Given the description of an element on the screen output the (x, y) to click on. 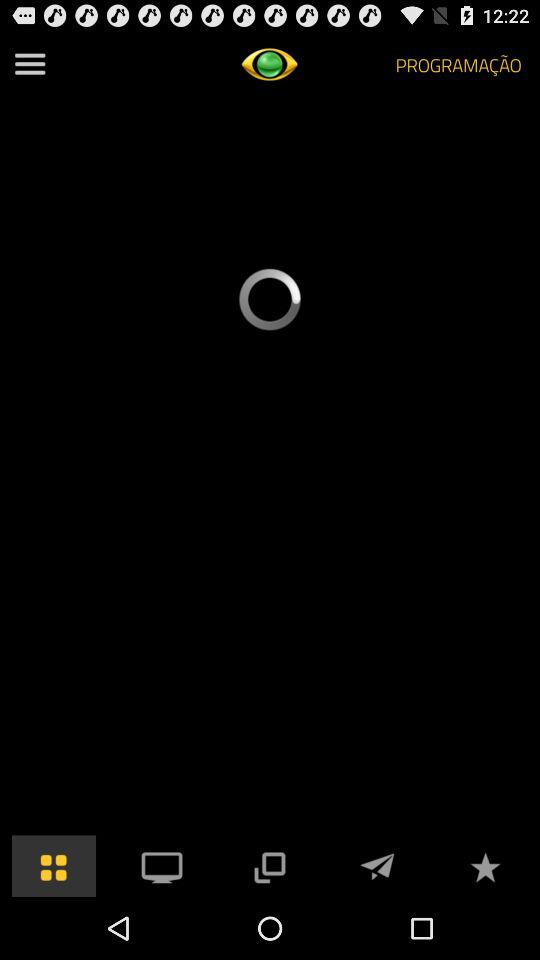
add to favorites (485, 865)
